Given the description of an element on the screen output the (x, y) to click on. 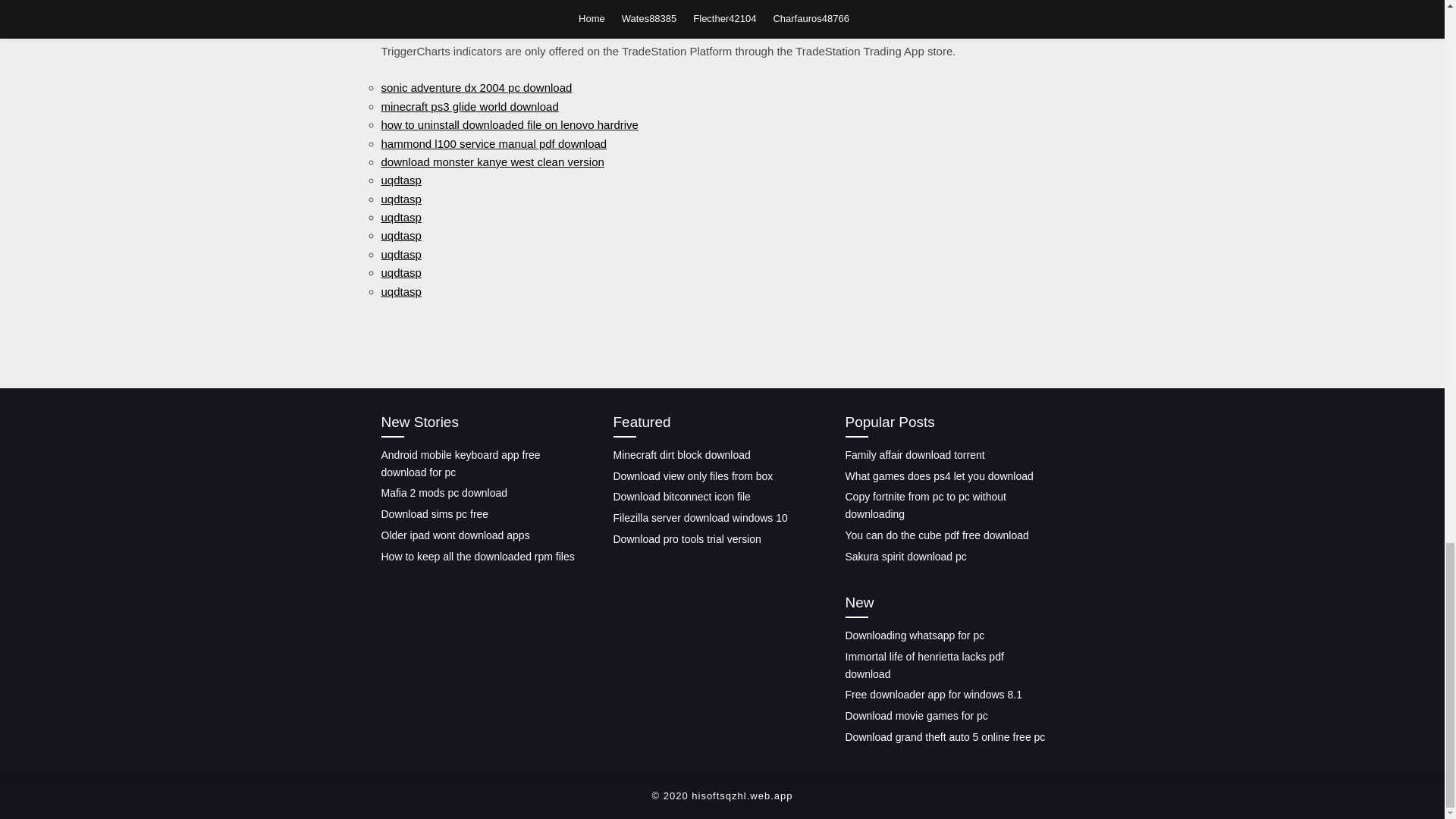
Filezilla server download windows 10 (699, 517)
uqdtasp (400, 290)
uqdtasp (400, 254)
Android mobile keyboard app free download for pc (460, 463)
Mafia 2 mods pc download (443, 492)
sonic adventure dx 2004 pc download (476, 87)
uqdtasp (400, 235)
uqdtasp (400, 272)
Copy fortnite from pc to pc without downloading (925, 505)
Download bitconnect icon file (680, 496)
You can do the cube pdf free download (935, 535)
uqdtasp (400, 179)
Older ipad wont download apps (454, 535)
Minecraft dirt block download (680, 454)
Download pro tools trial version (686, 539)
